Given the description of an element on the screen output the (x, y) to click on. 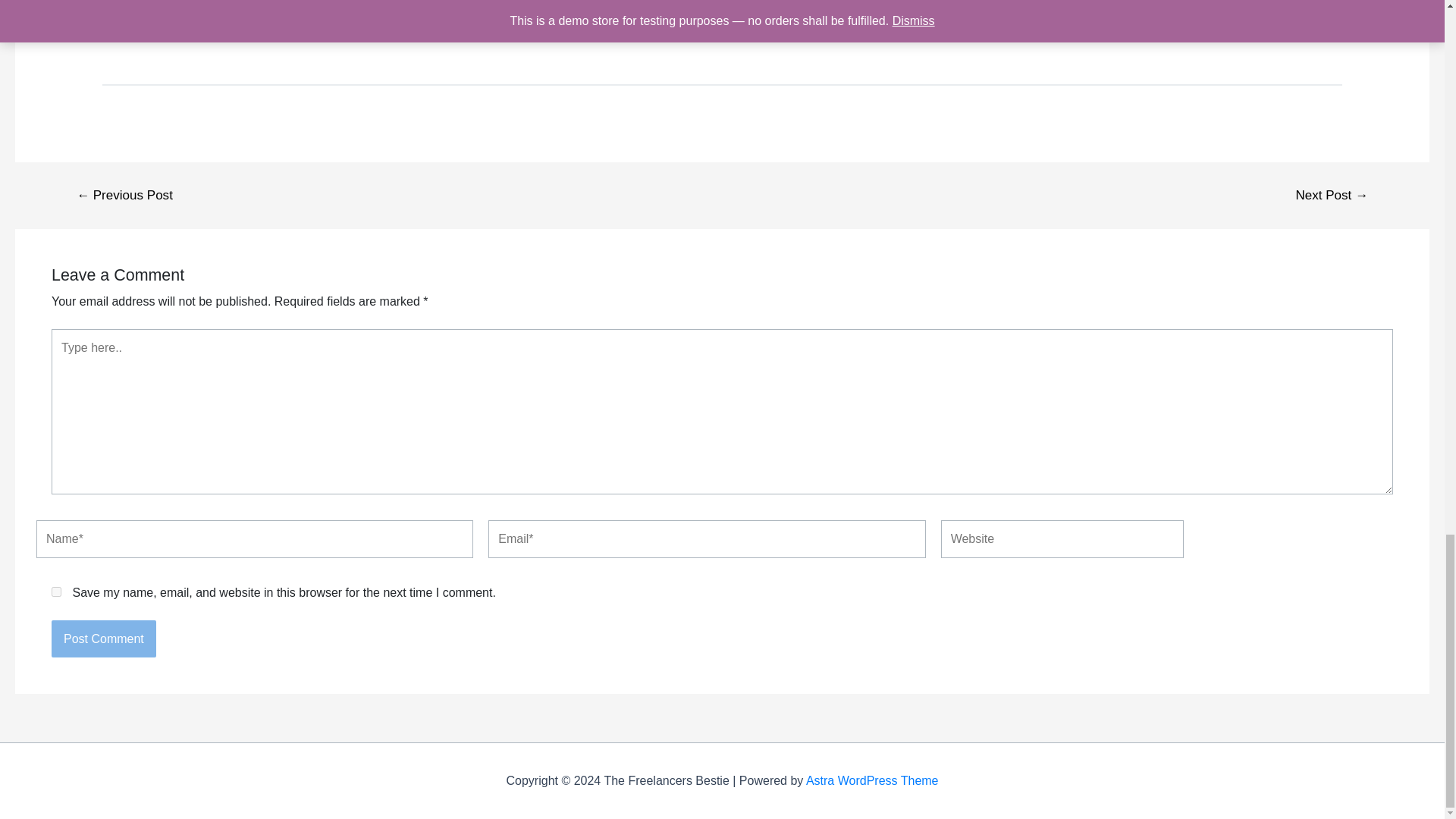
Astra WordPress Theme (872, 780)
Post Comment (102, 638)
yes (55, 592)
Post Comment (102, 638)
